Given the description of an element on the screen output the (x, y) to click on. 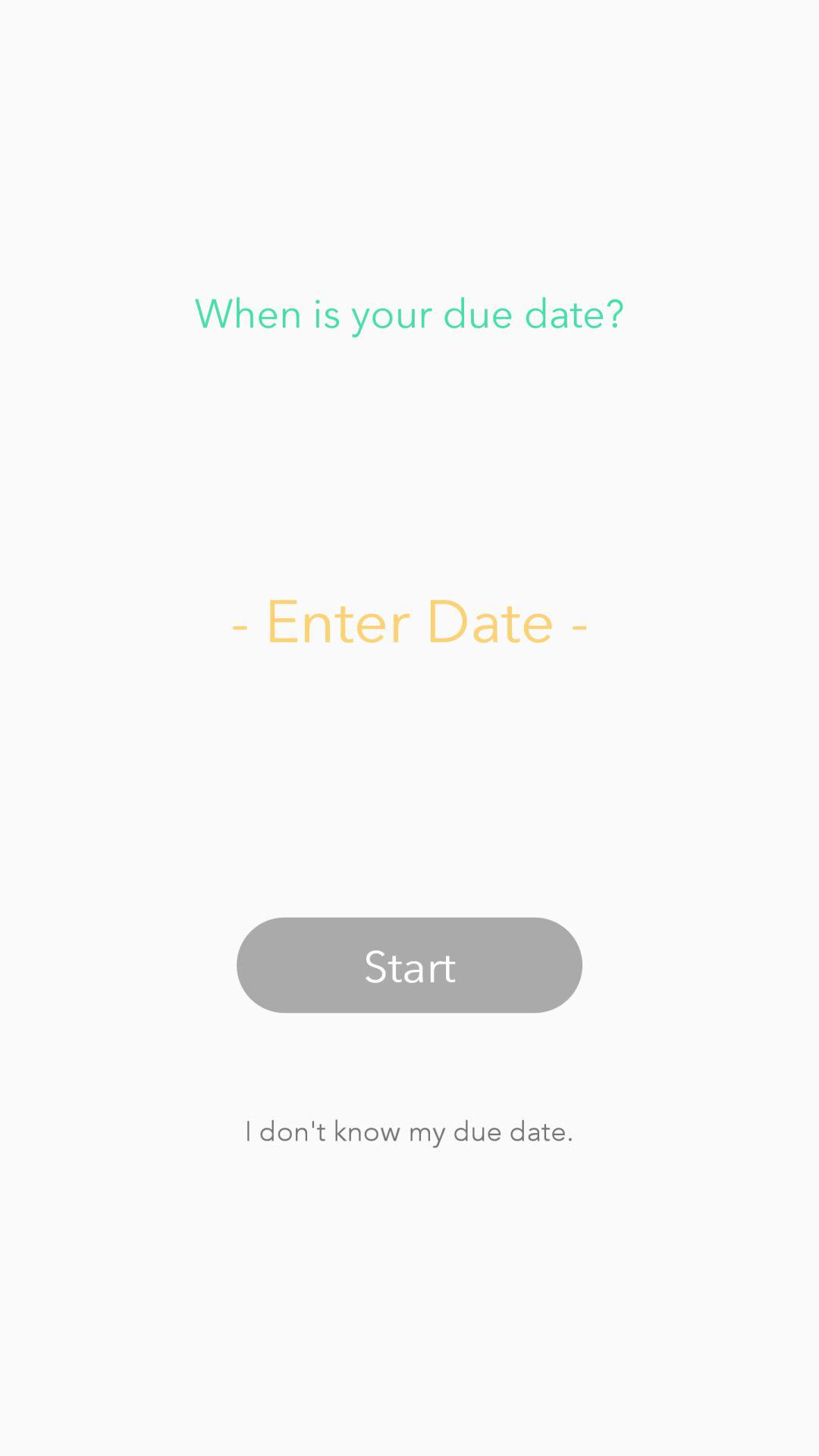
turn on the i don t (408, 1129)
